Given the description of an element on the screen output the (x, y) to click on. 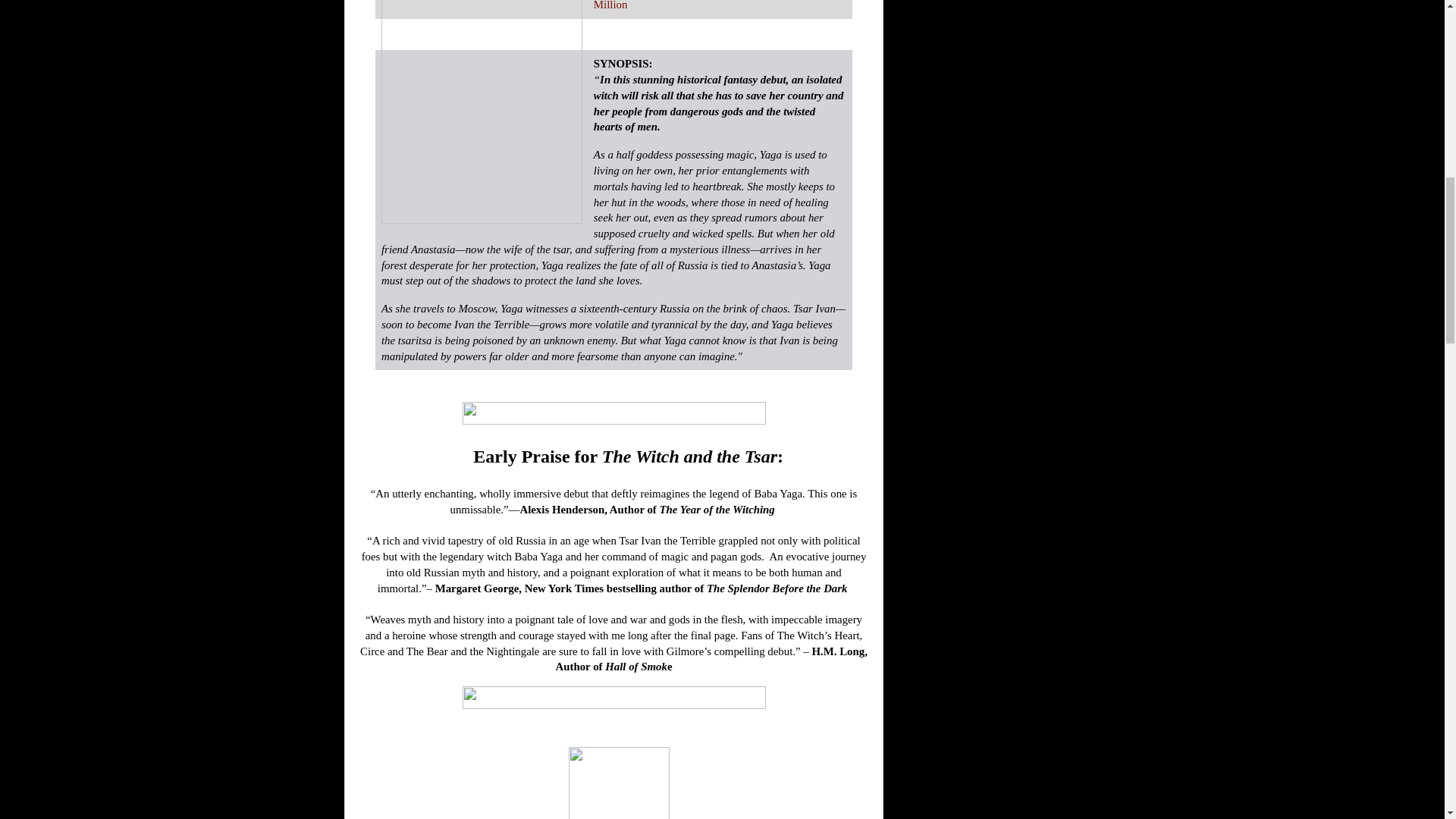
Books-A-Million (709, 5)
